Given the description of an element on the screen output the (x, y) to click on. 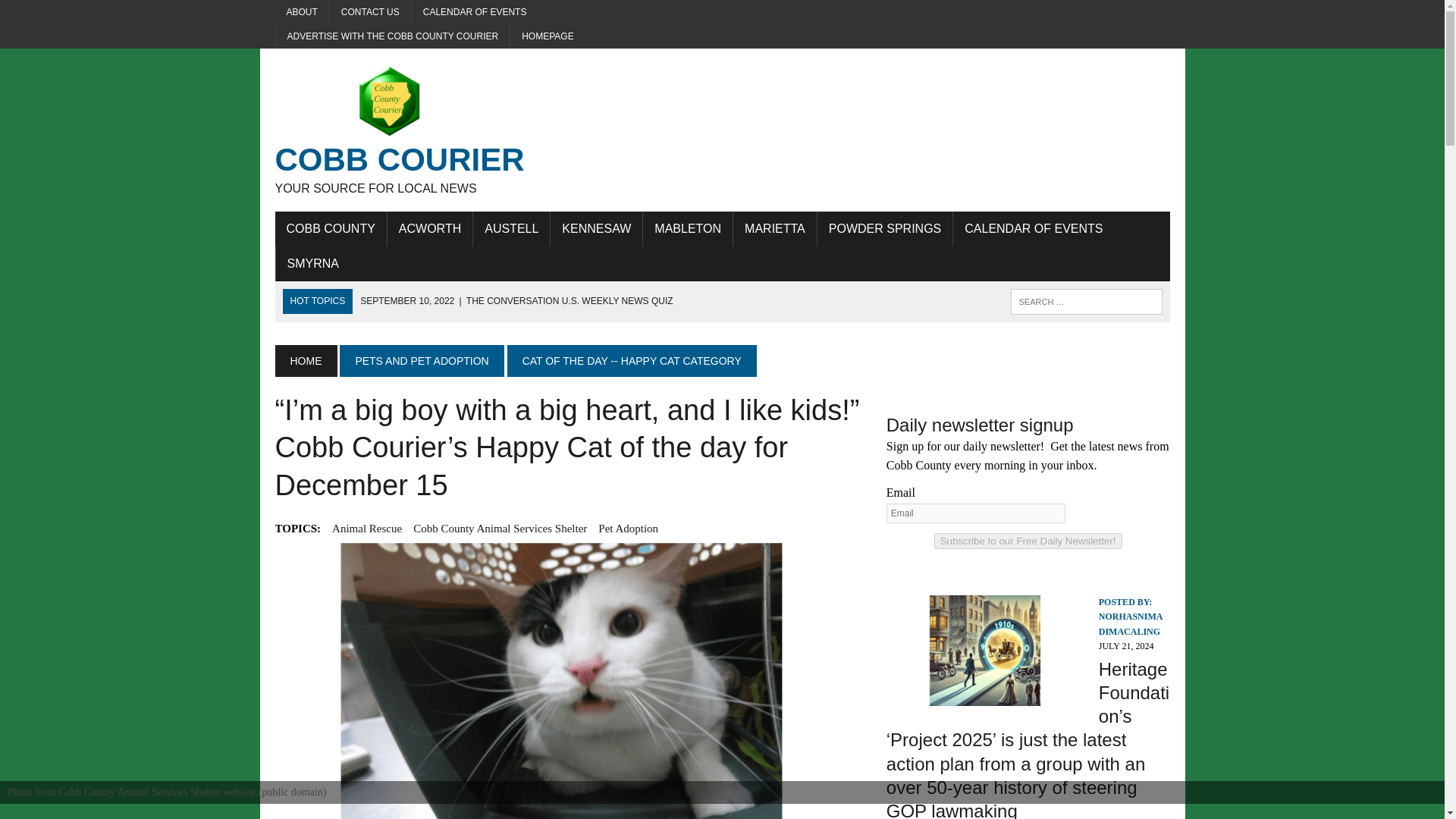
COBB COUNTY (330, 228)
AUSTELL (511, 228)
ADVERTISE WITH THE COBB COUNTY COURIER (393, 36)
CALENDAR OF EVENTS (1033, 228)
HOME (305, 360)
CAT OF THE DAY -- HAPPY CAT CATEGORY (631, 360)
PETS AND PET ADOPTION (421, 360)
SMYRNA (416, 129)
CONTACT US (313, 263)
Animal Rescue (370, 12)
HOMEPAGE (366, 528)
Pet Adoption (548, 36)
MABLETON (628, 528)
